Given the description of an element on the screen output the (x, y) to click on. 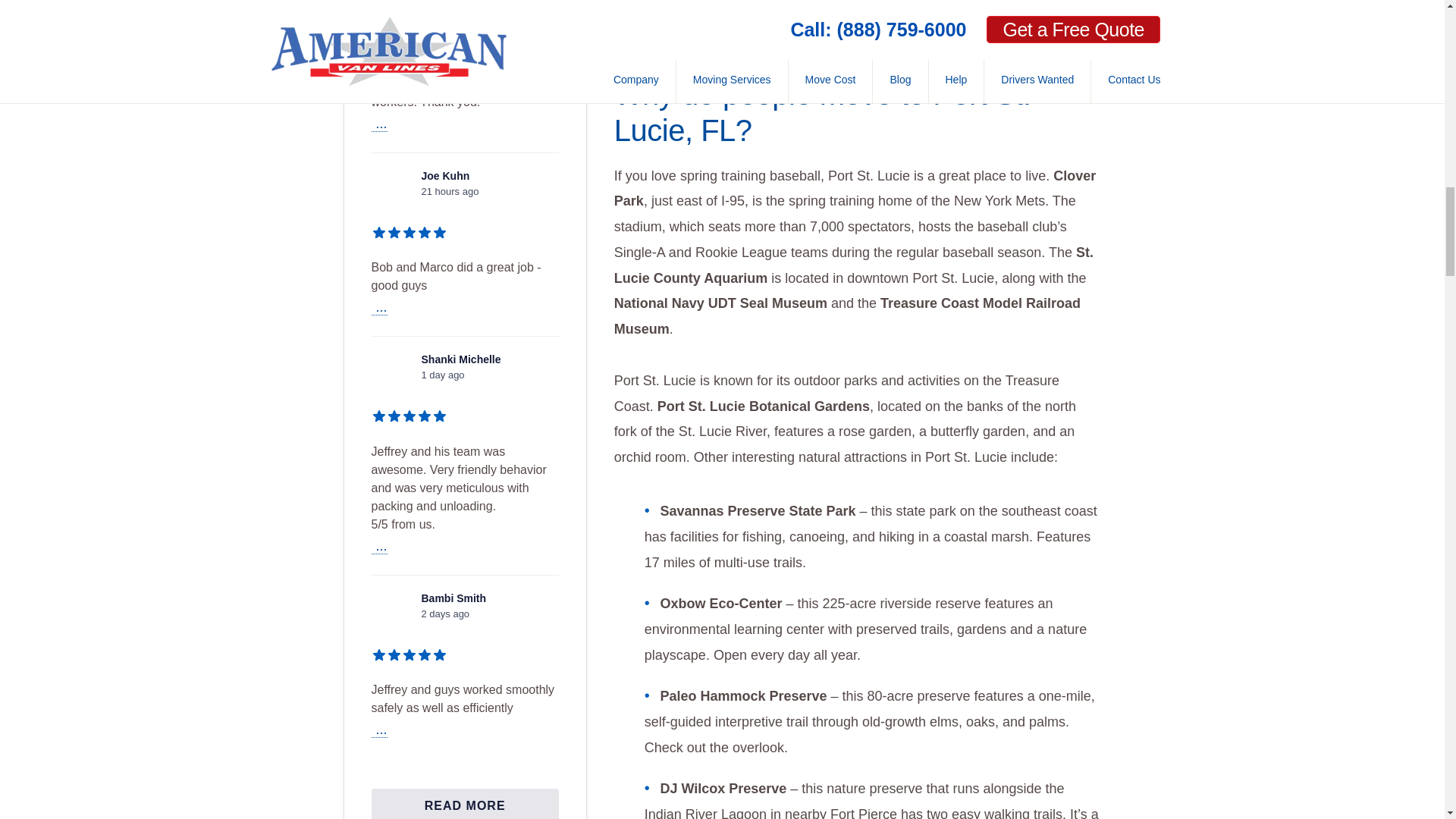
Bambi Smith (392, 611)
Shanki Michelle (392, 372)
Joe Kuhn (392, 189)
